Given the description of an element on the screen output the (x, y) to click on. 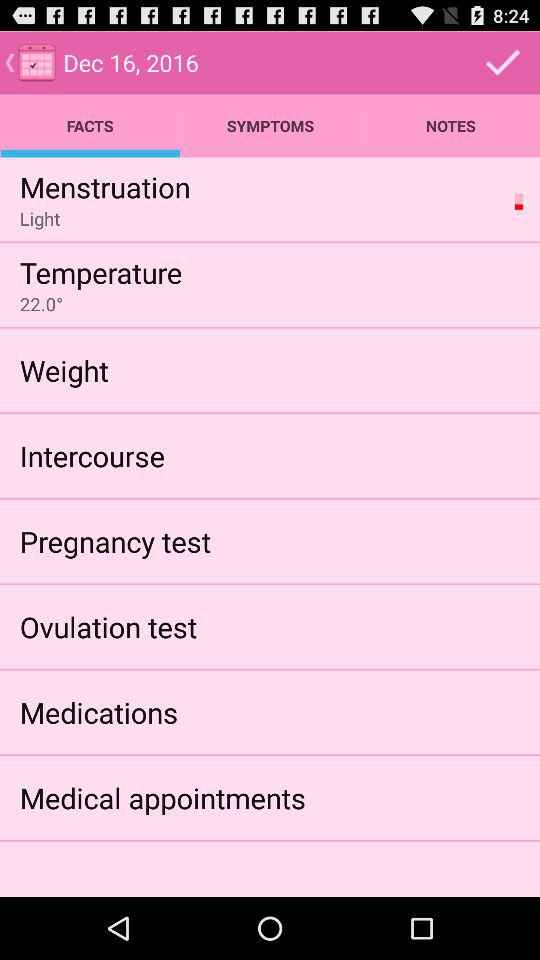
turn on the item next to the menstruation (518, 201)
